Given the description of an element on the screen output the (x, y) to click on. 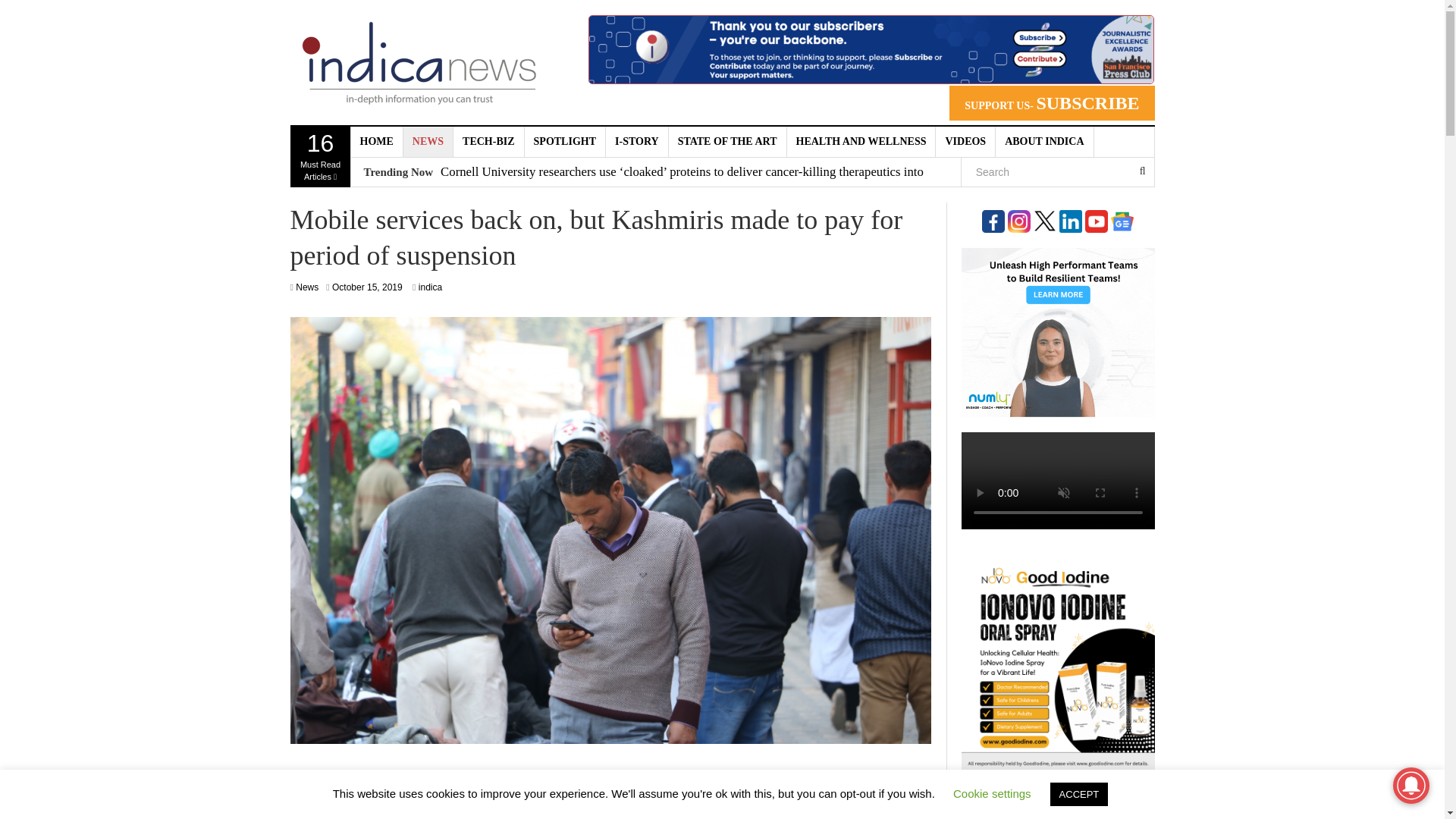
VIDEOS (965, 141)
I-STORY (636, 141)
Share (567, 789)
HEALTH AND WELLNESS (861, 141)
SUPPORT US- SUBSCRIBE (1051, 102)
TECH-BIZ (488, 141)
Tweet (787, 789)
indica (430, 286)
indica News (418, 62)
News (306, 286)
STATE OF THE ART (727, 141)
ABOUT INDICA (1044, 141)
SPOTLIGHT (564, 141)
NEWS (427, 141)
HOME (376, 141)
